Given the description of an element on the screen output the (x, y) to click on. 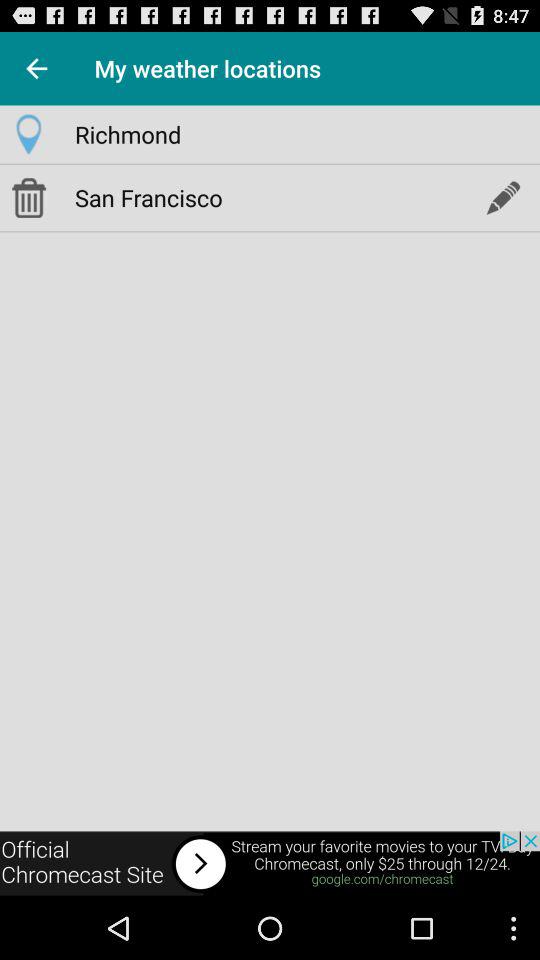
edit (502, 197)
